Given the description of an element on the screen output the (x, y) to click on. 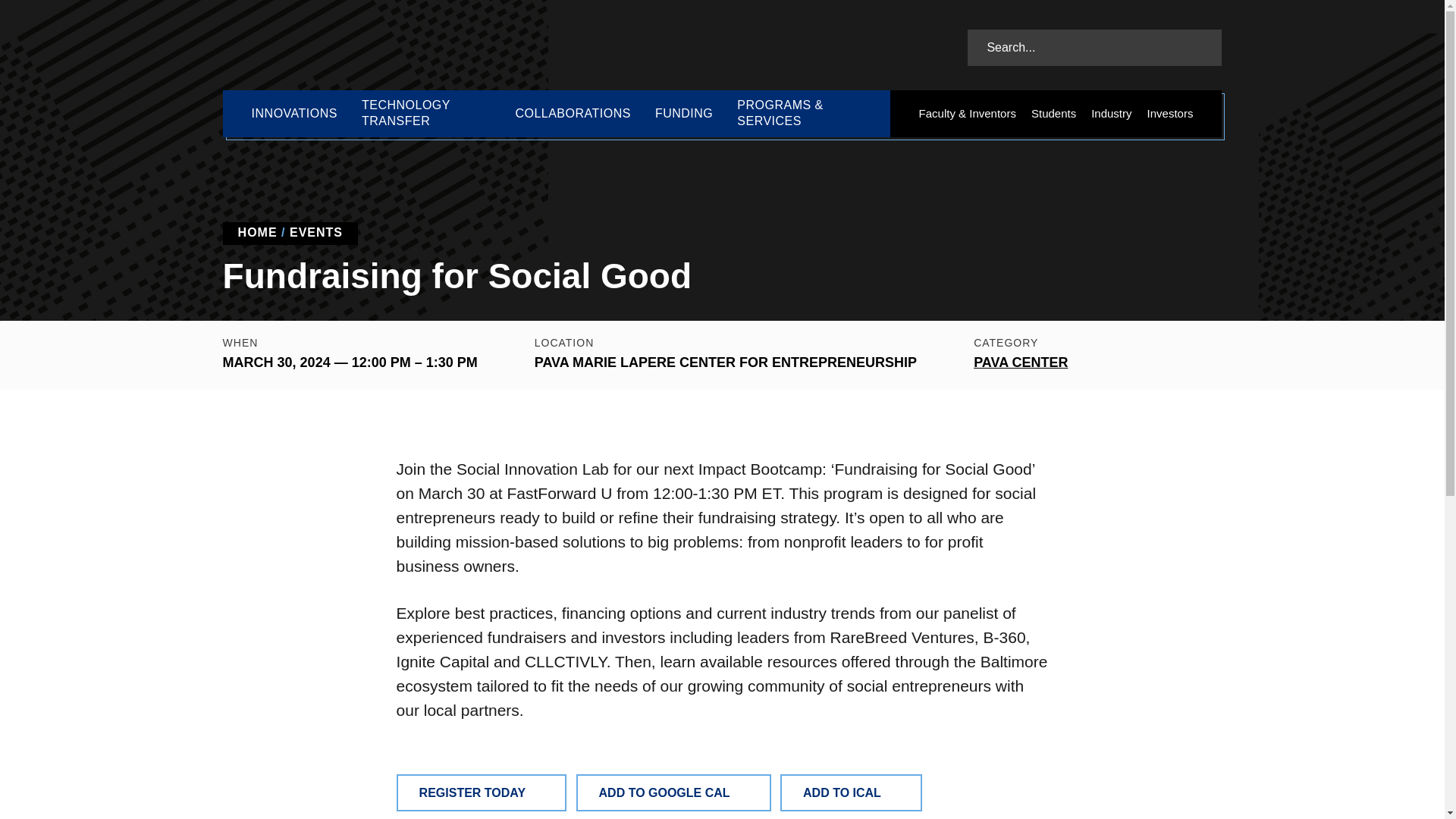
Students (1053, 113)
Investors (1170, 113)
INNOVATIONS (294, 113)
FUNDING (684, 113)
Rivier University (333, 45)
COLLABORATIONS (572, 113)
TECHNOLOGY TRANSFER (425, 113)
Industry (1110, 113)
HOME (258, 232)
